Given the description of an element on the screen output the (x, y) to click on. 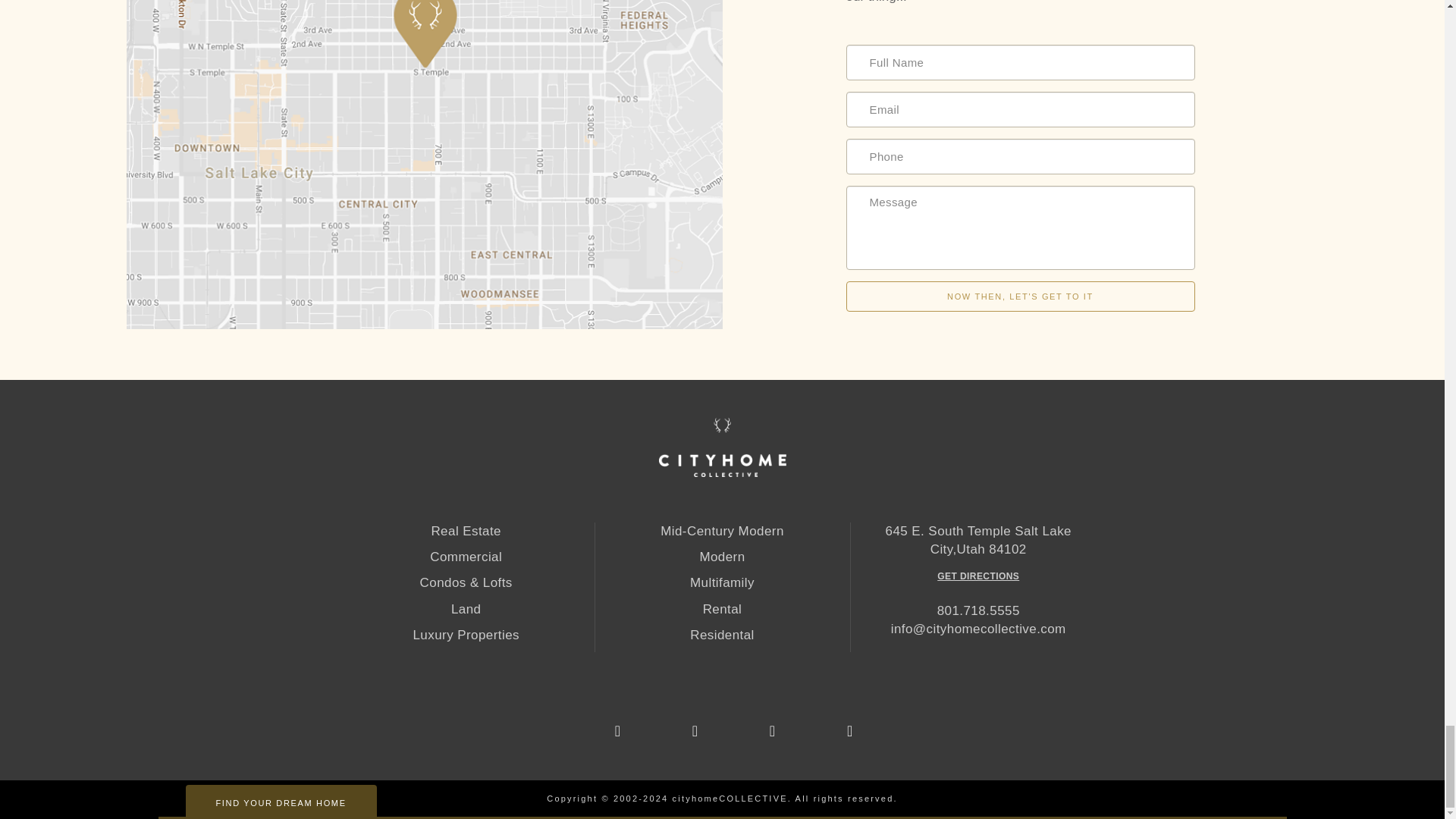
GET DIRECTIONS (977, 576)
Commercial (466, 556)
Real Estate (466, 531)
Multifamily (722, 583)
Rental (722, 609)
Luxury Properties (466, 635)
Modern (722, 556)
NOW THEN, LET'S GET TO IT (1020, 296)
Mid-Century Modern (722, 531)
Residental (722, 635)
Land (466, 609)
801.718.5555 (978, 610)
